Given the description of an element on the screen output the (x, y) to click on. 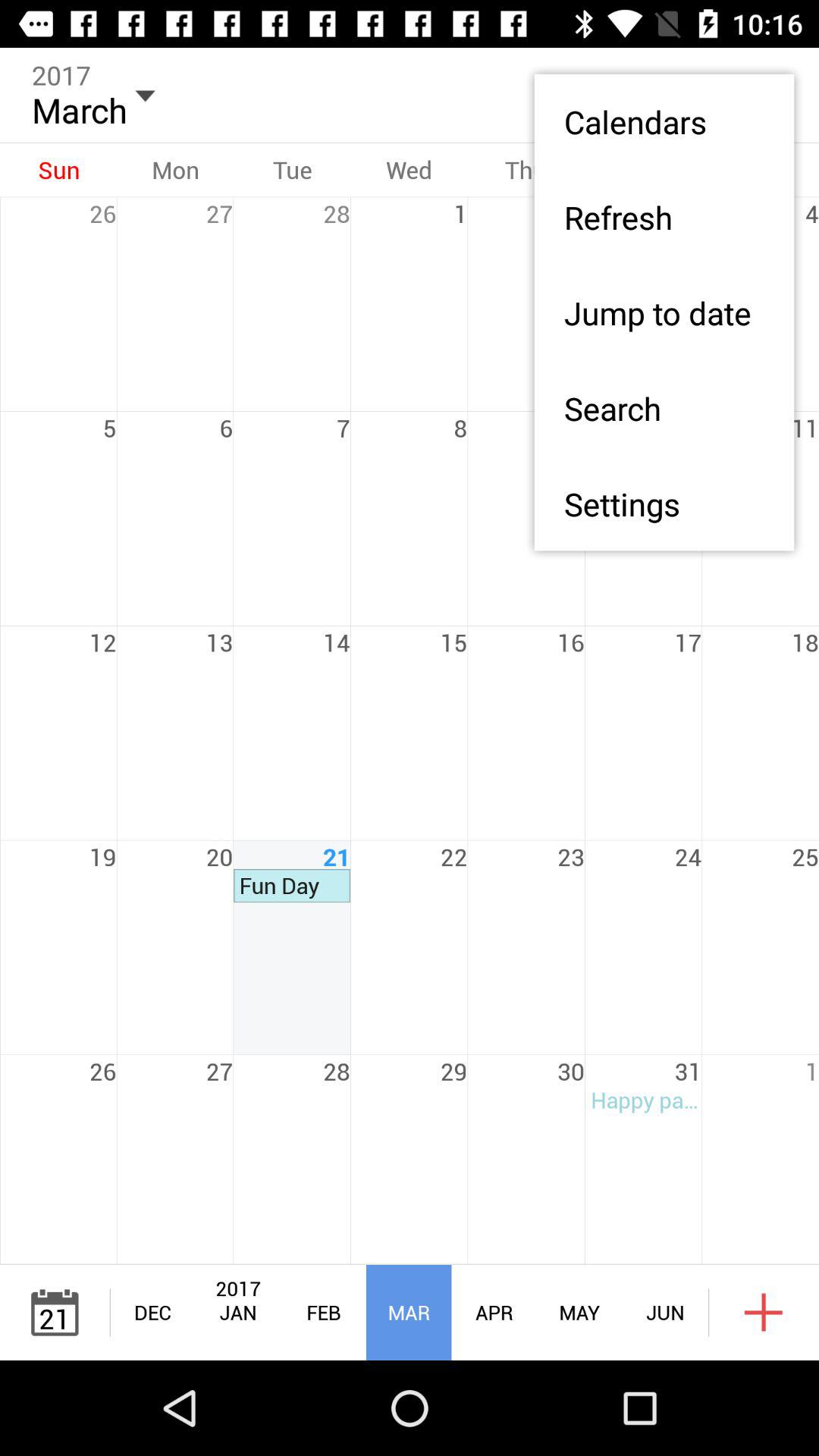
tap icon on the right (664, 503)
